Given the description of an element on the screen output the (x, y) to click on. 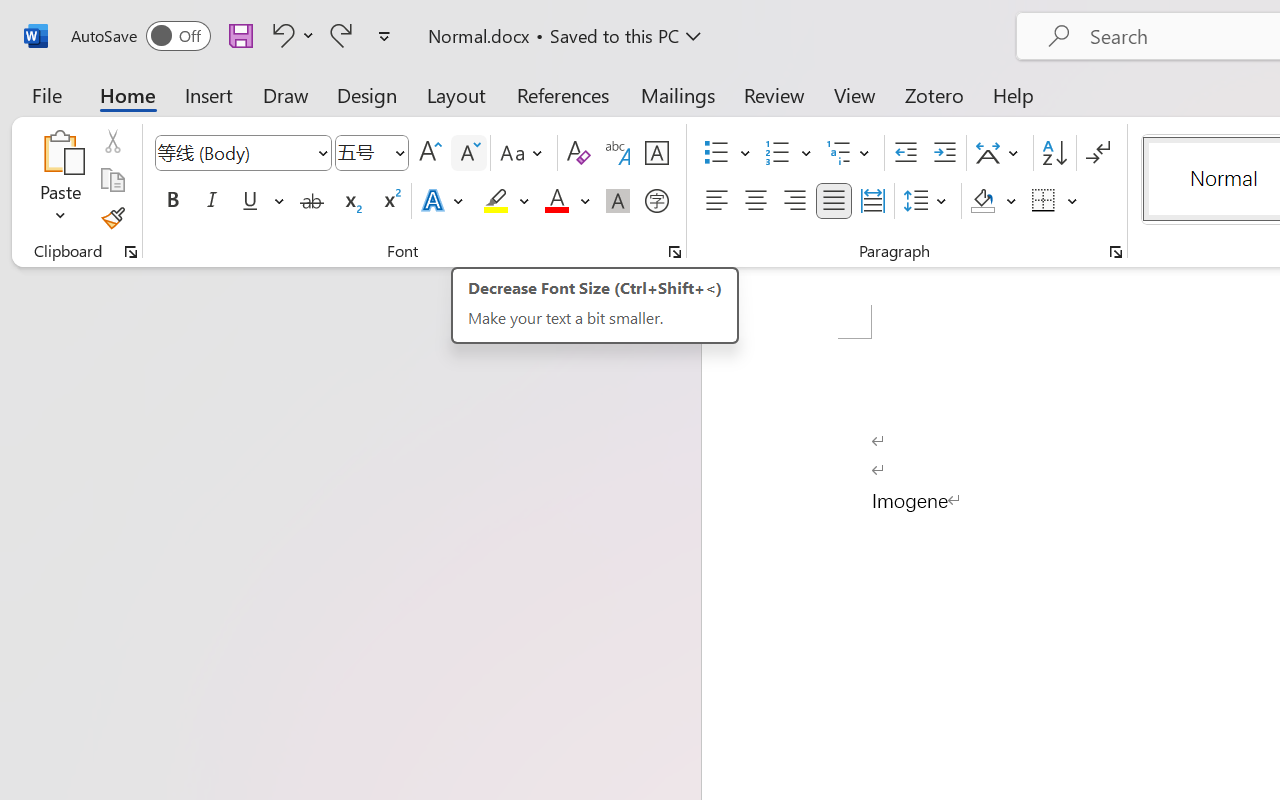
Activate (846, 88)
